Given the description of an element on the screen output the (x, y) to click on. 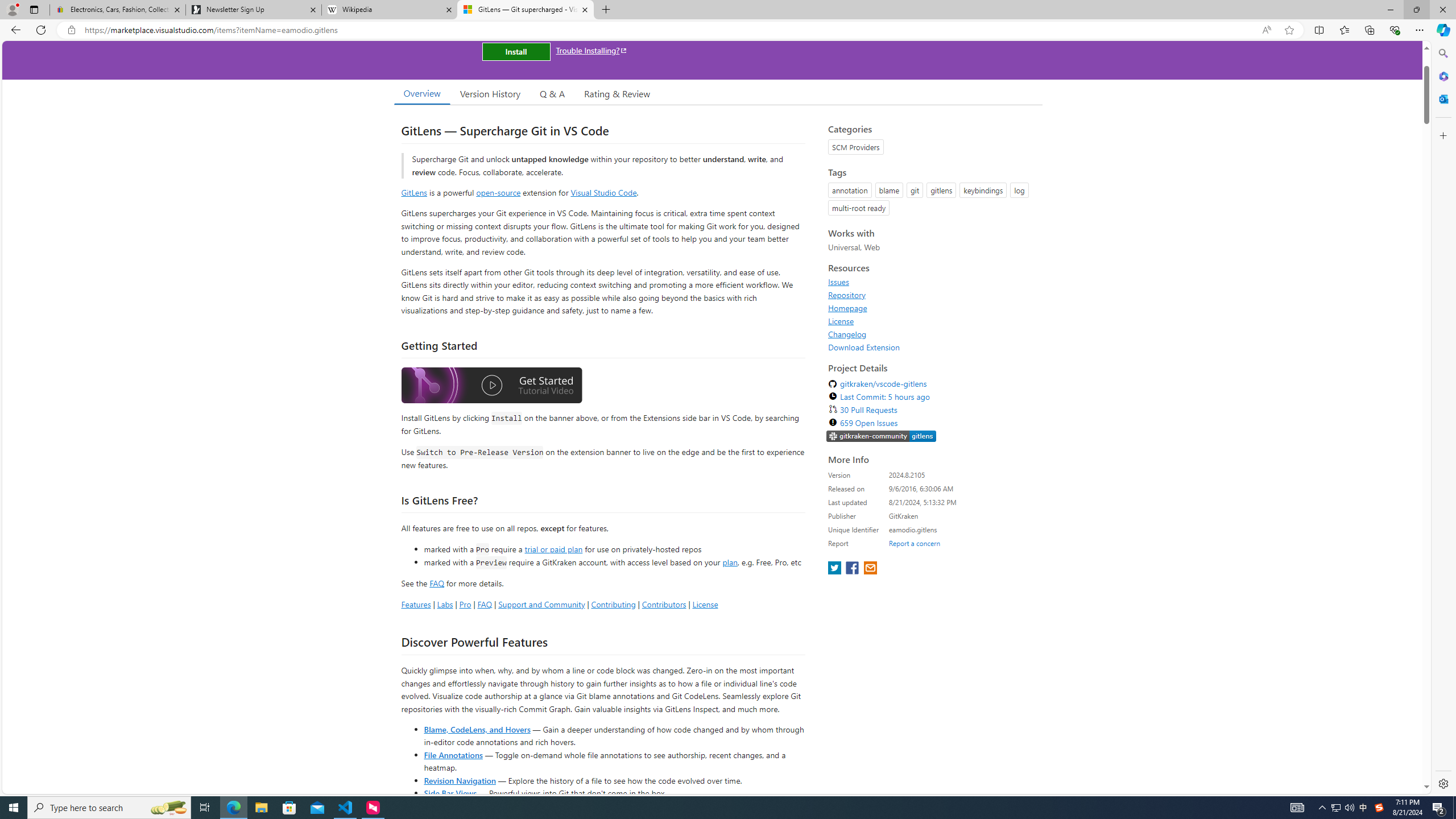
Visual Studio Code (603, 192)
share extension on email (869, 568)
trial or paid plan (553, 548)
FAQ (484, 603)
Features (415, 603)
Watch the GitLens Getting Started video (491, 385)
Download Extension (863, 346)
https://slack.gitkraken.com// (881, 436)
